Given the description of an element on the screen output the (x, y) to click on. 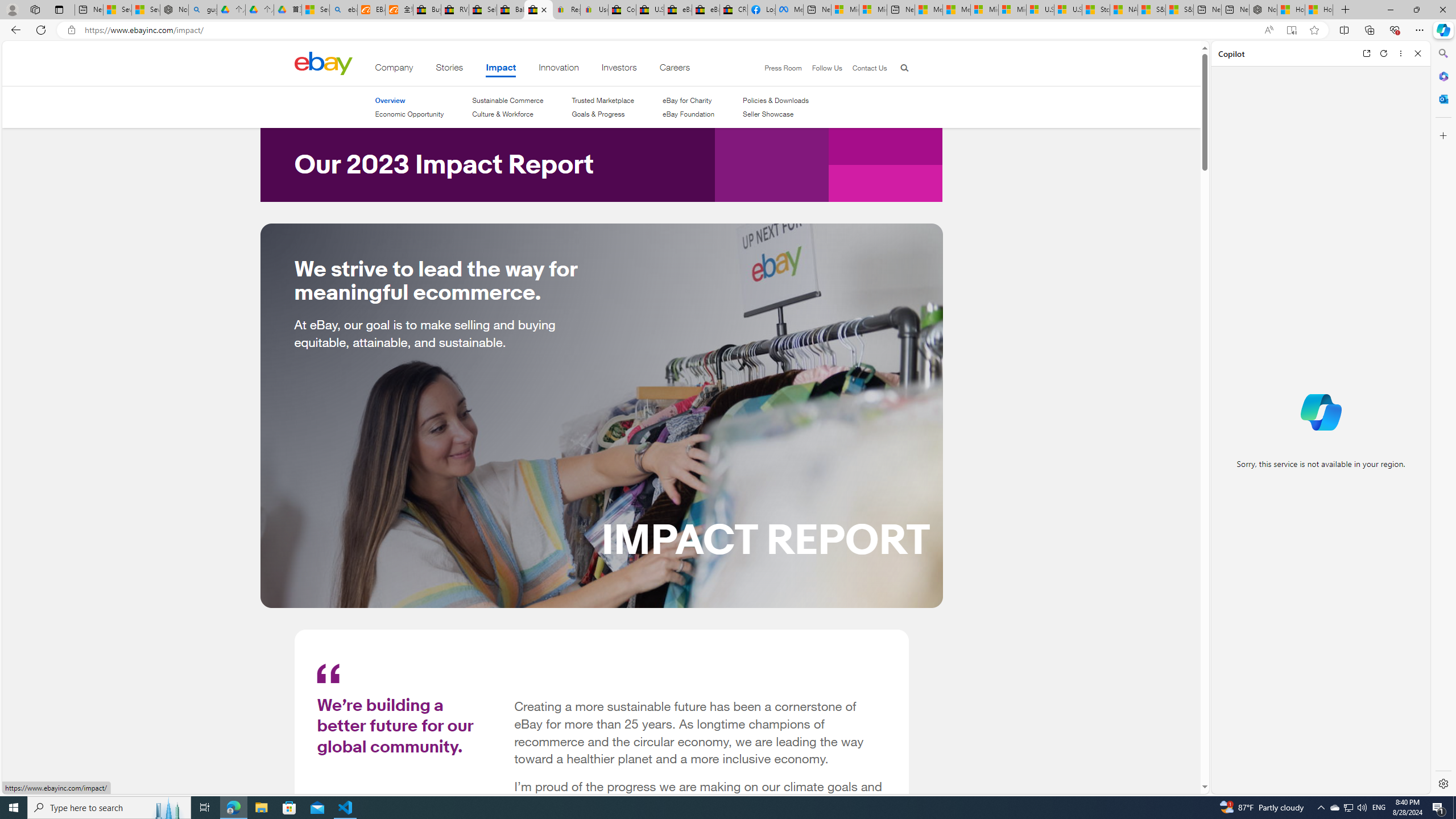
Register: Create a personal eBay account (566, 9)
RV, Trailer & Camper Steps & Ladders for sale | eBay (454, 9)
U.S. State Privacy Disclosures - eBay Inc. (649, 9)
Policies & Downloads (775, 99)
Settings (1442, 783)
eBay Foundation (688, 113)
Company (393, 69)
eBay Impact - eBay Inc. (538, 9)
Innovation (558, 69)
